Given the description of an element on the screen output the (x, y) to click on. 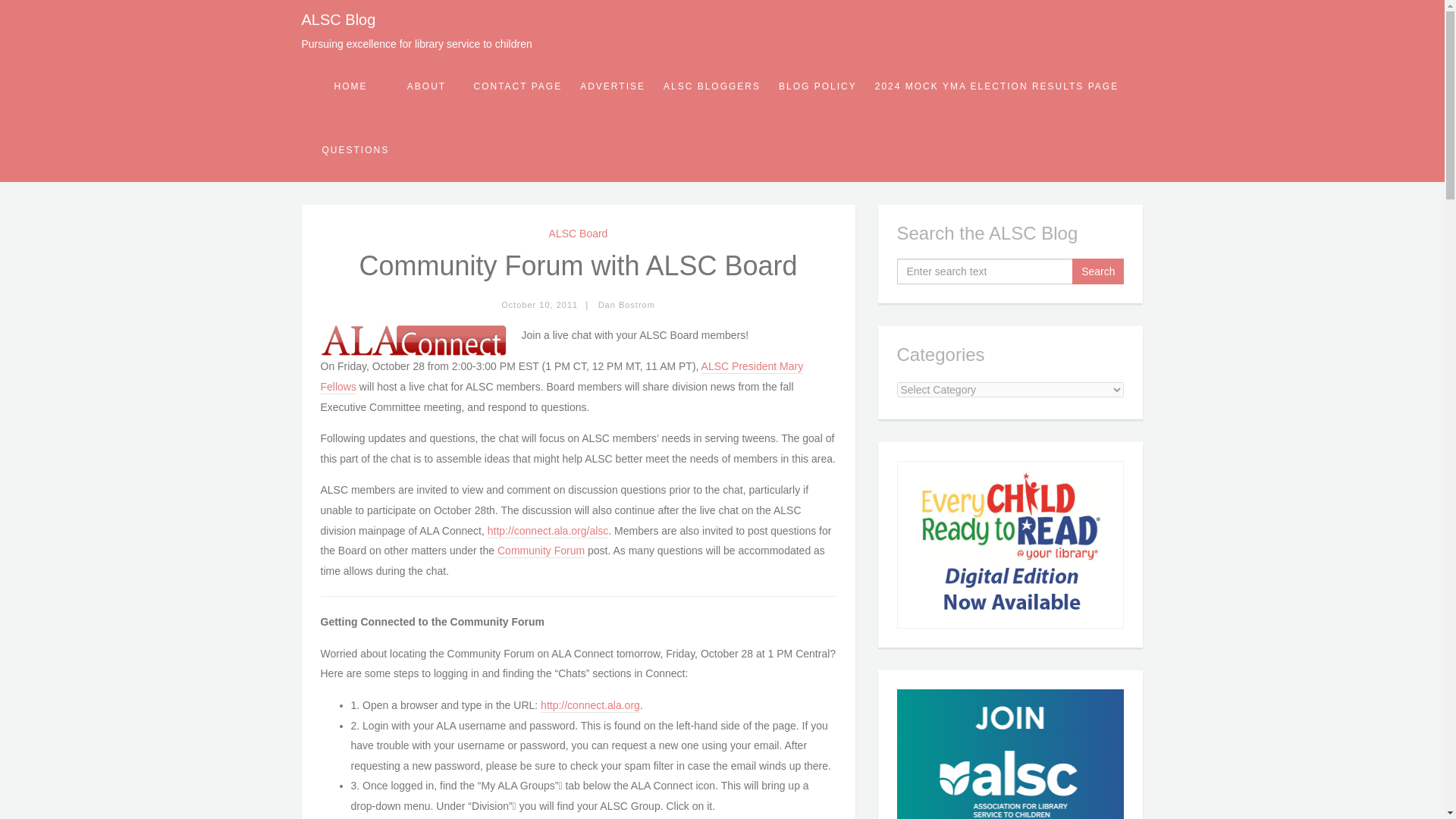
October 10, 2011 (539, 304)
ALSC Blog (338, 19)
2024 Mock YMA Election Results Page (996, 85)
HOME (350, 85)
ALA Connect  (412, 340)
Questions (355, 149)
Dan Bostrom (626, 304)
ABOUT (426, 85)
Home (350, 85)
About (426, 85)
ADVERTISE (611, 85)
2024 MOCK YMA ELECTION RESULTS PAGE (996, 85)
ALSC President Mary Fellows (561, 376)
ALSC Bloggers (711, 85)
ALSC President Mary Fellows (561, 376)
